Given the description of an element on the screen output the (x, y) to click on. 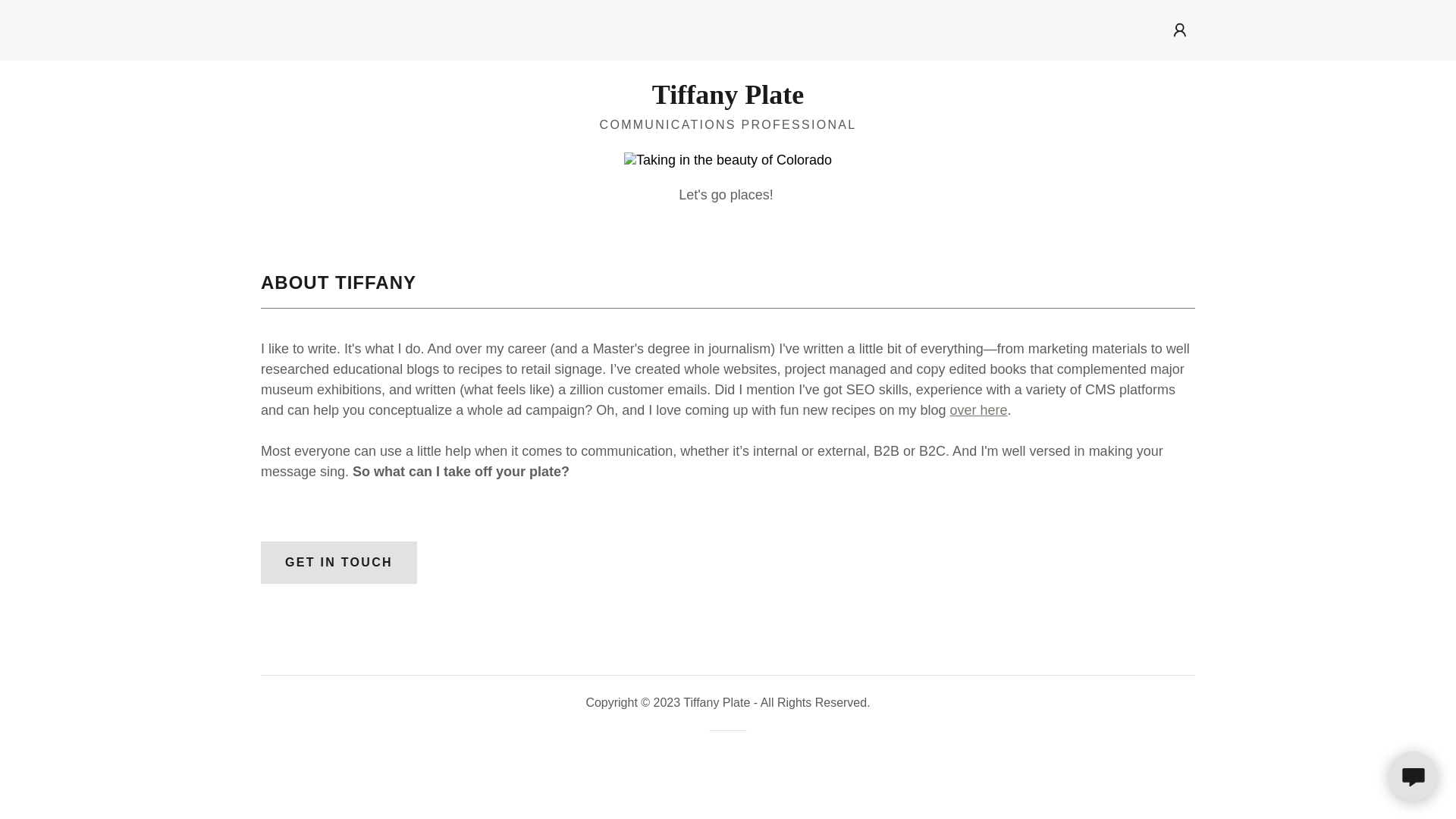
GET IN TOUCH (338, 562)
Tiffany Plate (727, 99)
Tiffany Plate (727, 99)
over here (978, 409)
